Given the description of an element on the screen output the (x, y) to click on. 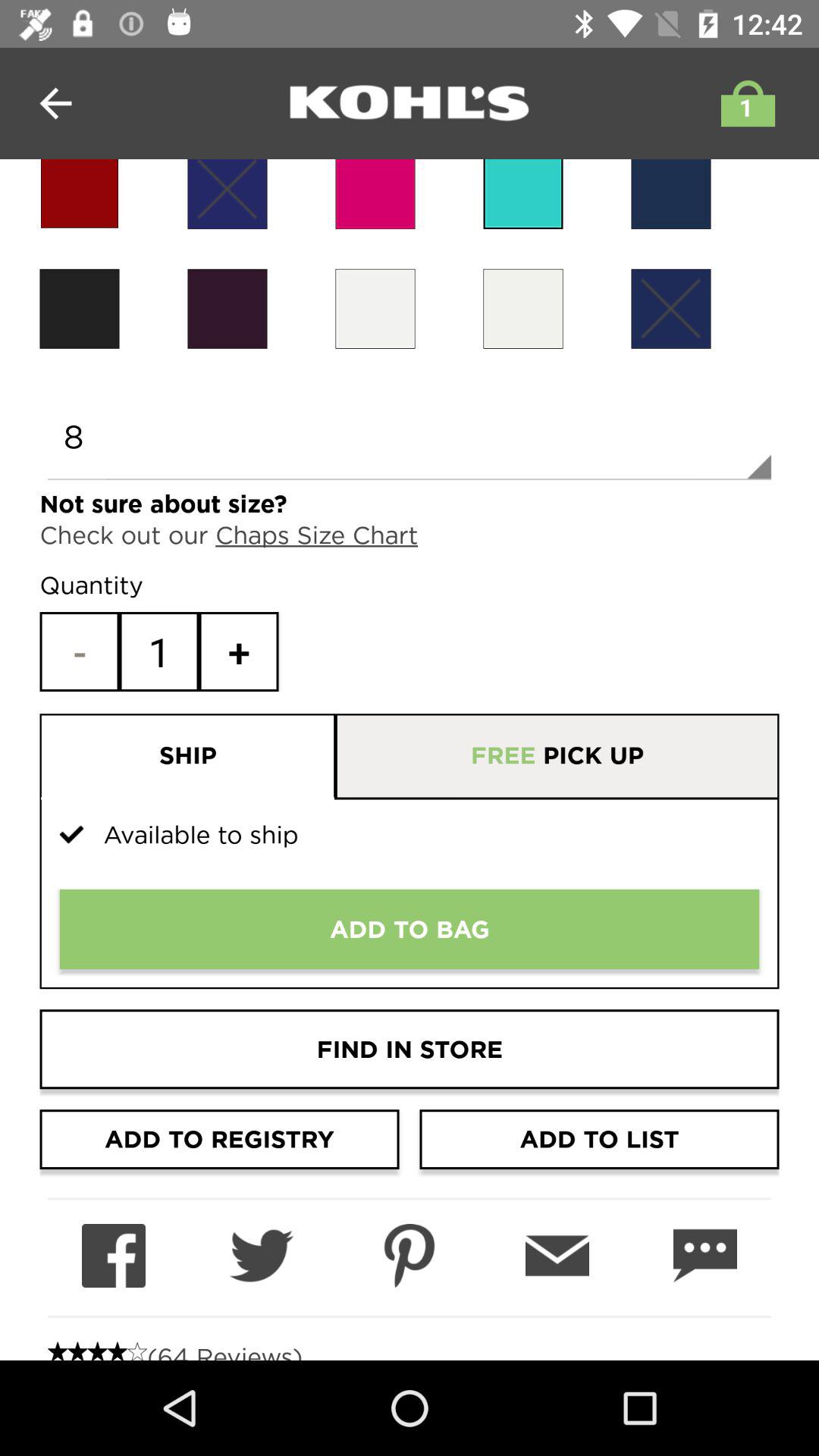
go to shopping cart (744, 103)
